Given the description of an element on the screen output the (x, y) to click on. 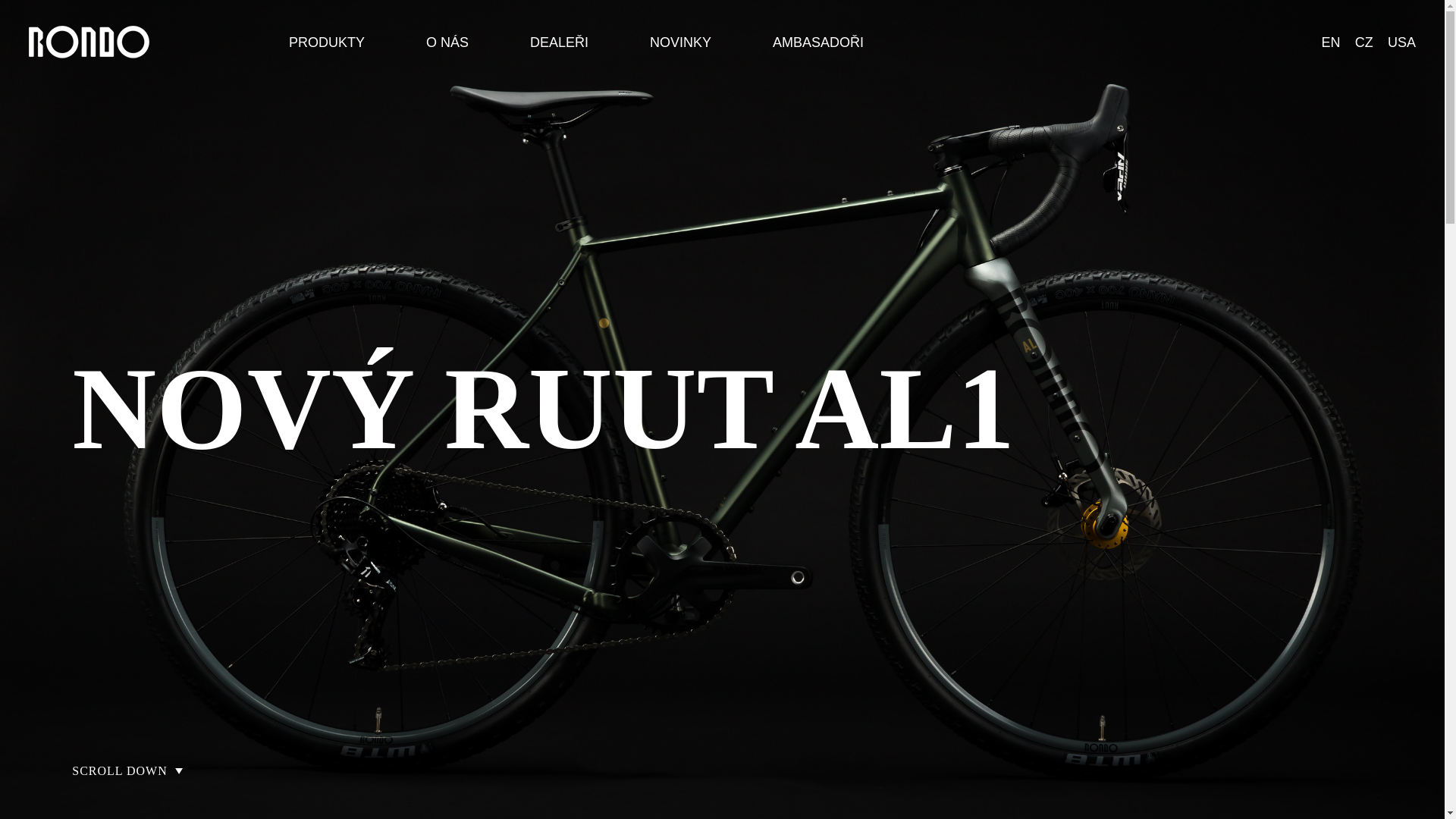
CZ (1356, 42)
USA (1394, 42)
PRODUKTY (326, 46)
NOVINKY (680, 46)
EN (1322, 42)
SCROLL DOWN (127, 770)
